Given the description of an element on the screen output the (x, y) to click on. 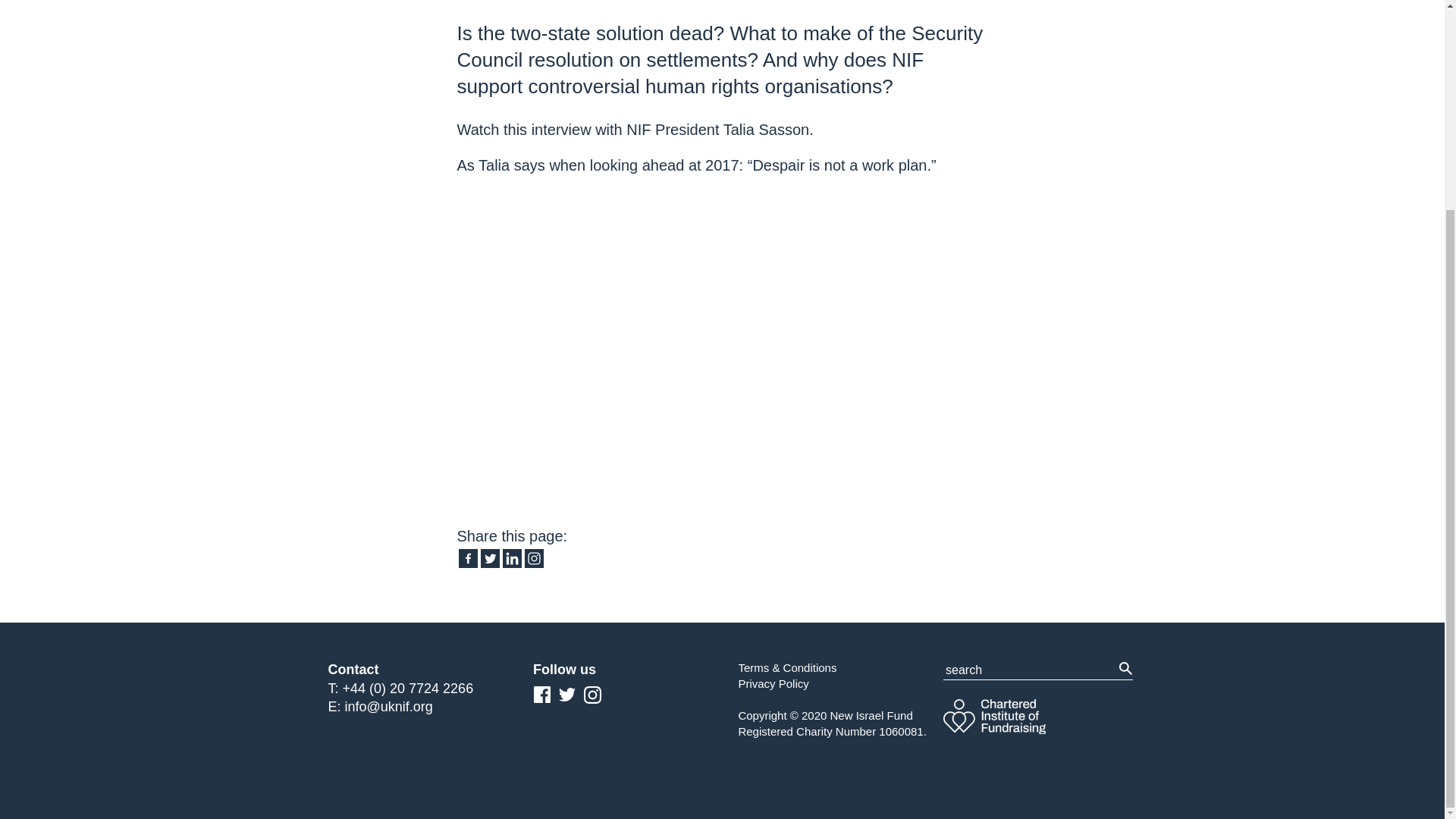
Instagram (533, 558)
Facebook (467, 558)
Linkedin (511, 558)
Twitter (489, 558)
